Given the description of an element on the screen output the (x, y) to click on. 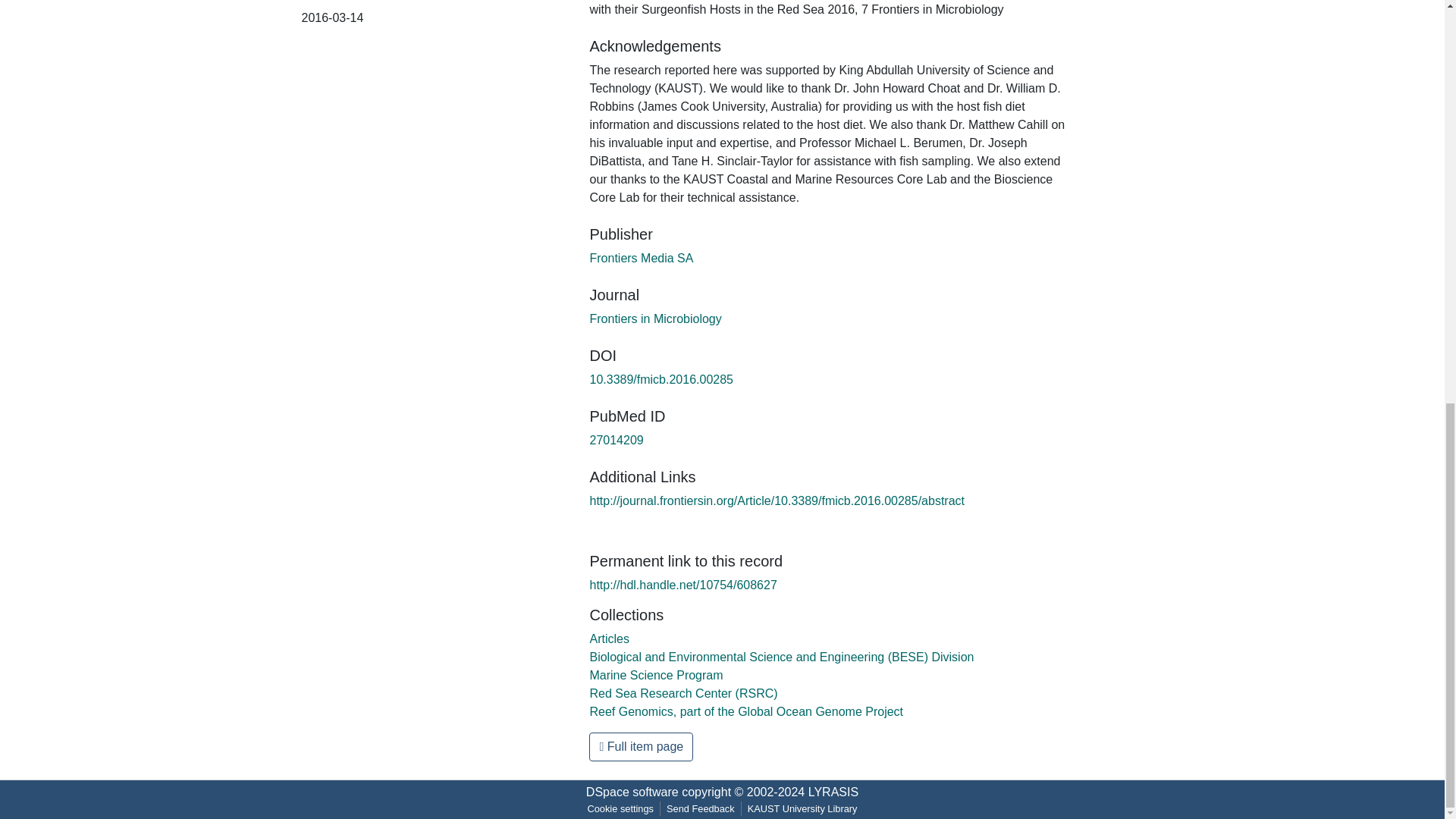
KAUST University Library (802, 808)
Reef Genomics, part of the Global Ocean Genome Project (745, 711)
Frontiers Media SA (641, 257)
Articles (608, 638)
Frontiers in Microbiology (654, 318)
Marine Science Program (655, 675)
Full item page (641, 746)
Send Feedback (701, 808)
Cookie settings (619, 808)
LYRASIS (833, 791)
DSpace software (632, 791)
27014209 (616, 440)
